Given the description of an element on the screen output the (x, y) to click on. 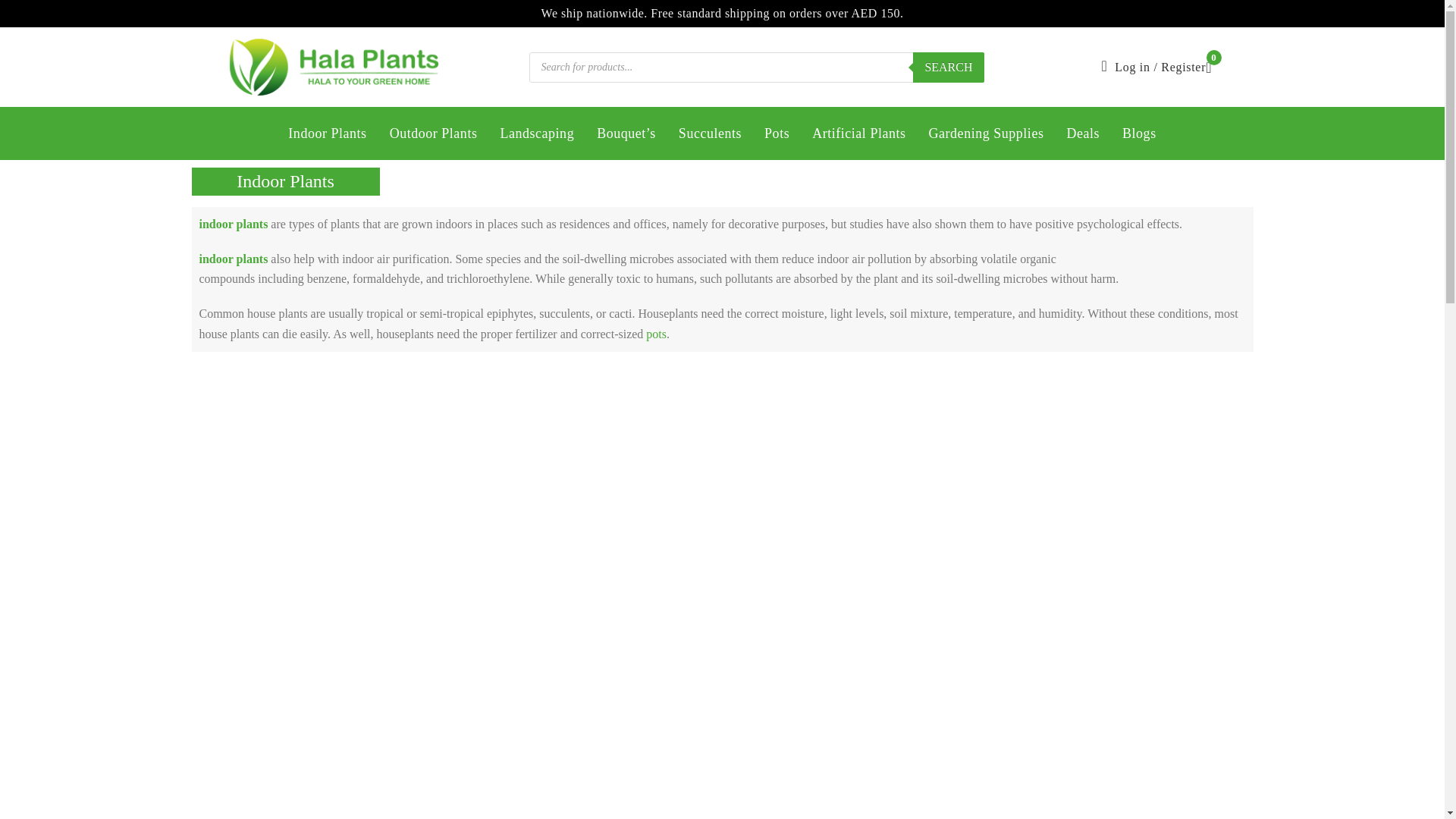
Succulents (709, 133)
Artificial Plants (858, 133)
Gardening Supplies (985, 133)
Deals (1082, 133)
Indoor Plants (327, 133)
Outdoor Plants (433, 133)
SEARCH (948, 67)
Indoor Plants (284, 180)
Blogs (1139, 133)
Register (1182, 66)
Log in (1132, 66)
Landscaping (536, 133)
